Given the description of an element on the screen output the (x, y) to click on. 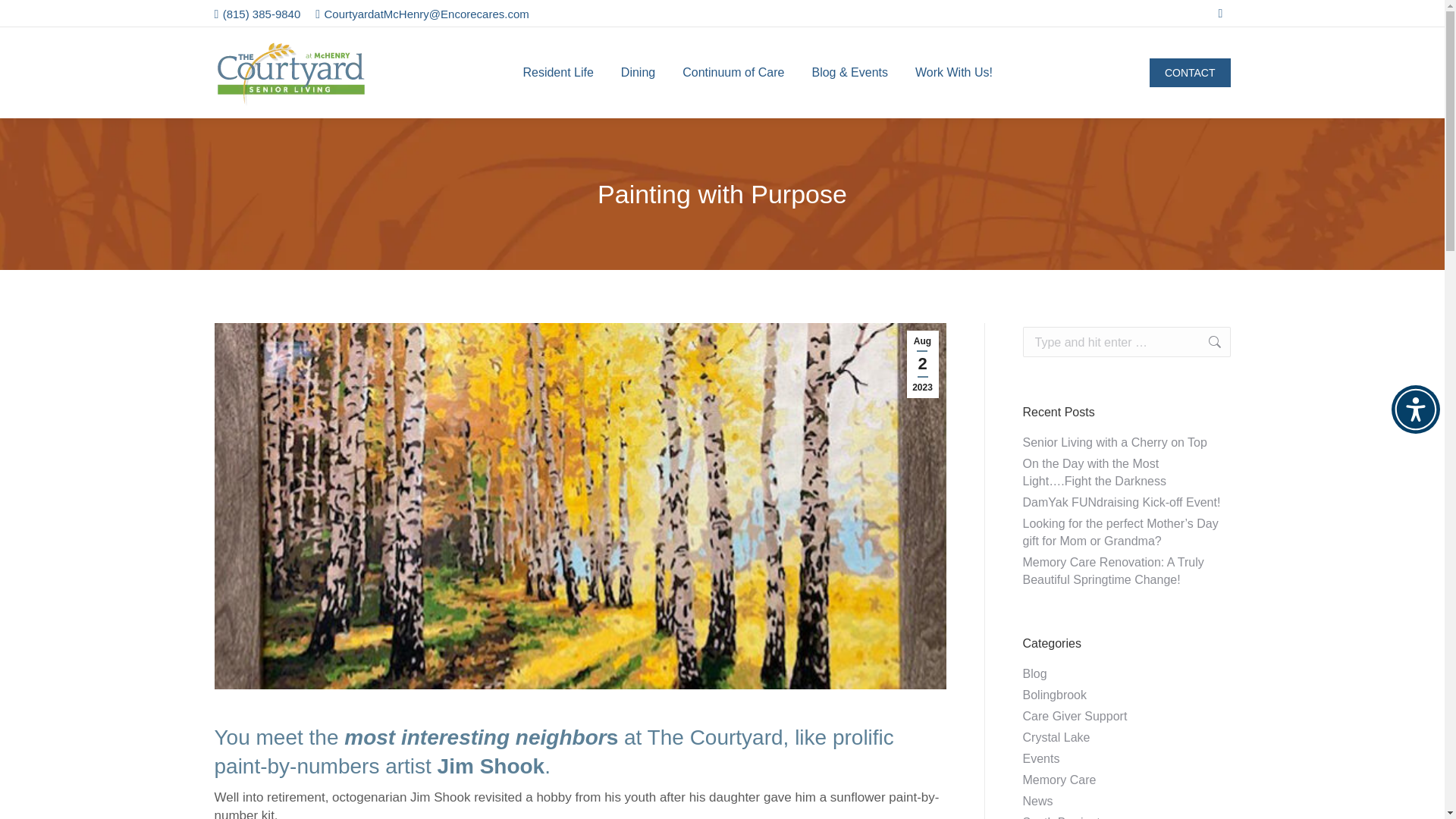
Go! (1207, 341)
Continuum of Care (733, 72)
Go! (1207, 341)
Work With Us! (953, 72)
Facebook page opens in new window (1219, 13)
Accessibility Menu (1415, 409)
CONTACT (1190, 72)
Facebook page opens in new window (1219, 13)
Resident Life (557, 72)
